Given the description of an element on the screen output the (x, y) to click on. 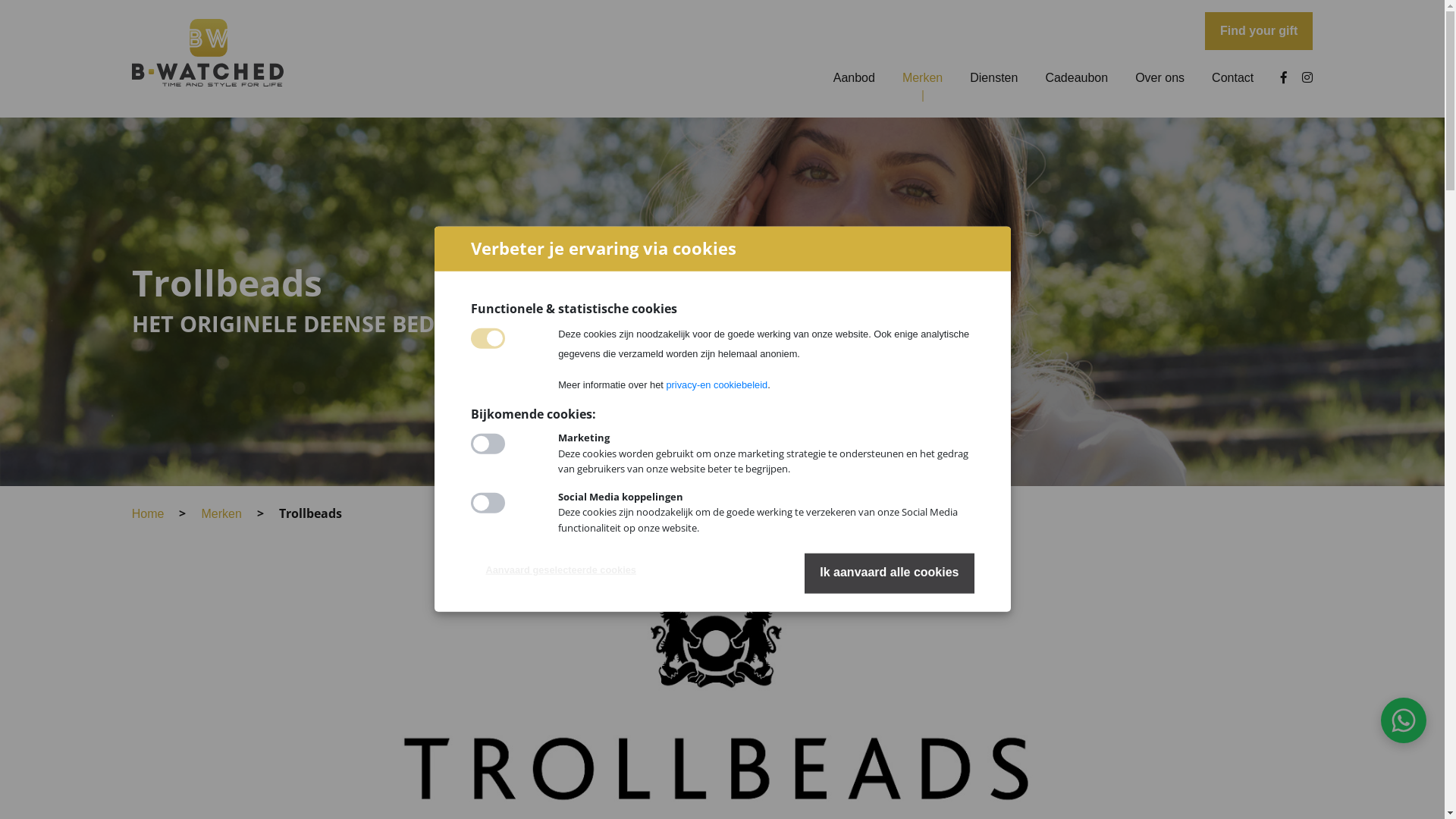
Home Element type: text (147, 513)
Contact Element type: text (1232, 77)
Aanvaard geselecteerde cookies Element type: text (560, 569)
Merken Element type: text (922, 77)
Diensten Element type: text (993, 77)
Over ons Element type: text (1159, 77)
Aanbod Element type: text (854, 77)
Cadeaubon Element type: text (1075, 77)
Ik aanvaard alle cookies Element type: text (888, 573)
Find your gift Element type: text (1258, 31)
privacy-en cookiebeleid Element type: text (716, 384)
Merken Element type: text (220, 513)
